Given the description of an element on the screen output the (x, y) to click on. 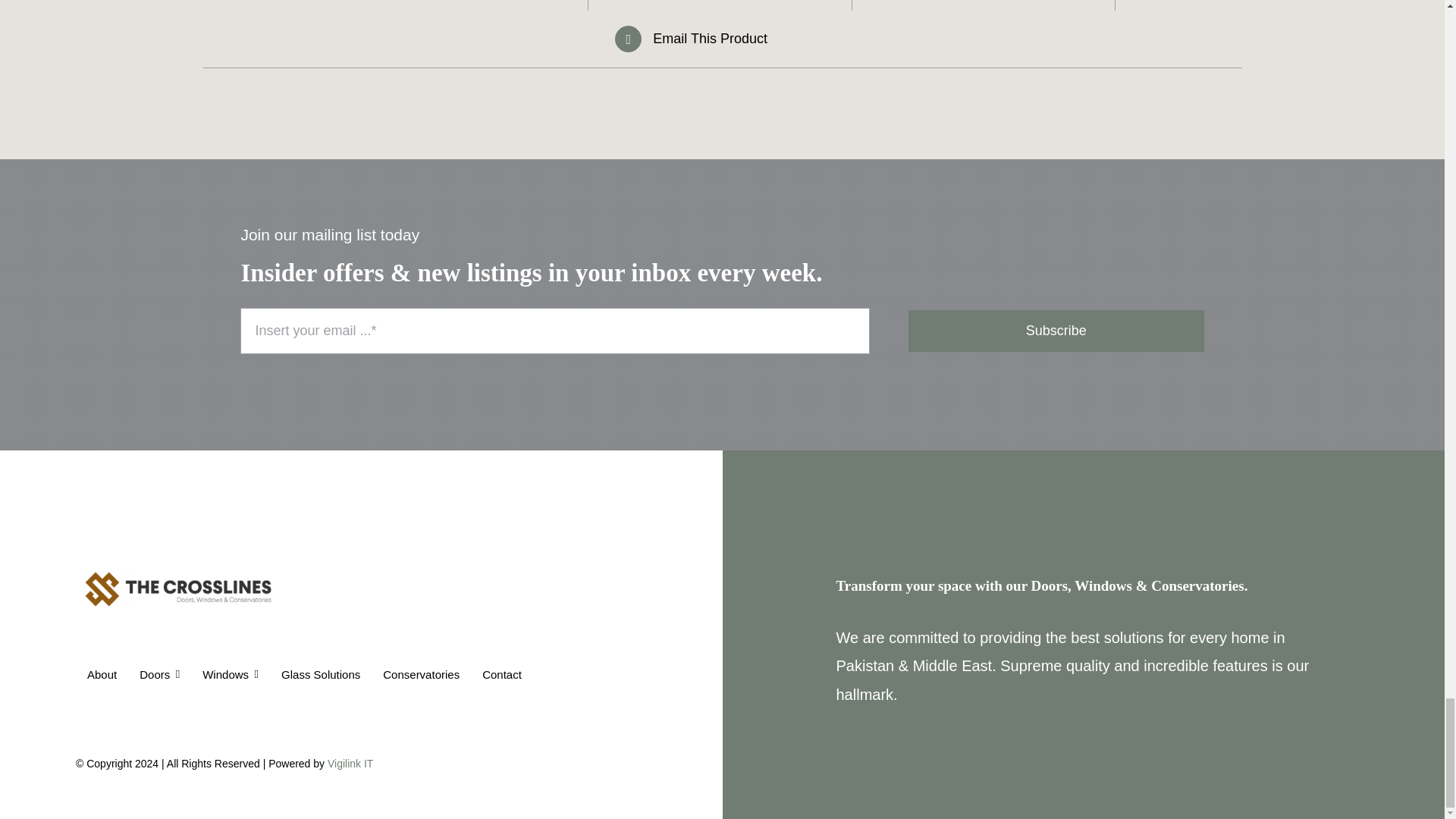
Subscribe (722, 330)
